Given the description of an element on the screen output the (x, y) to click on. 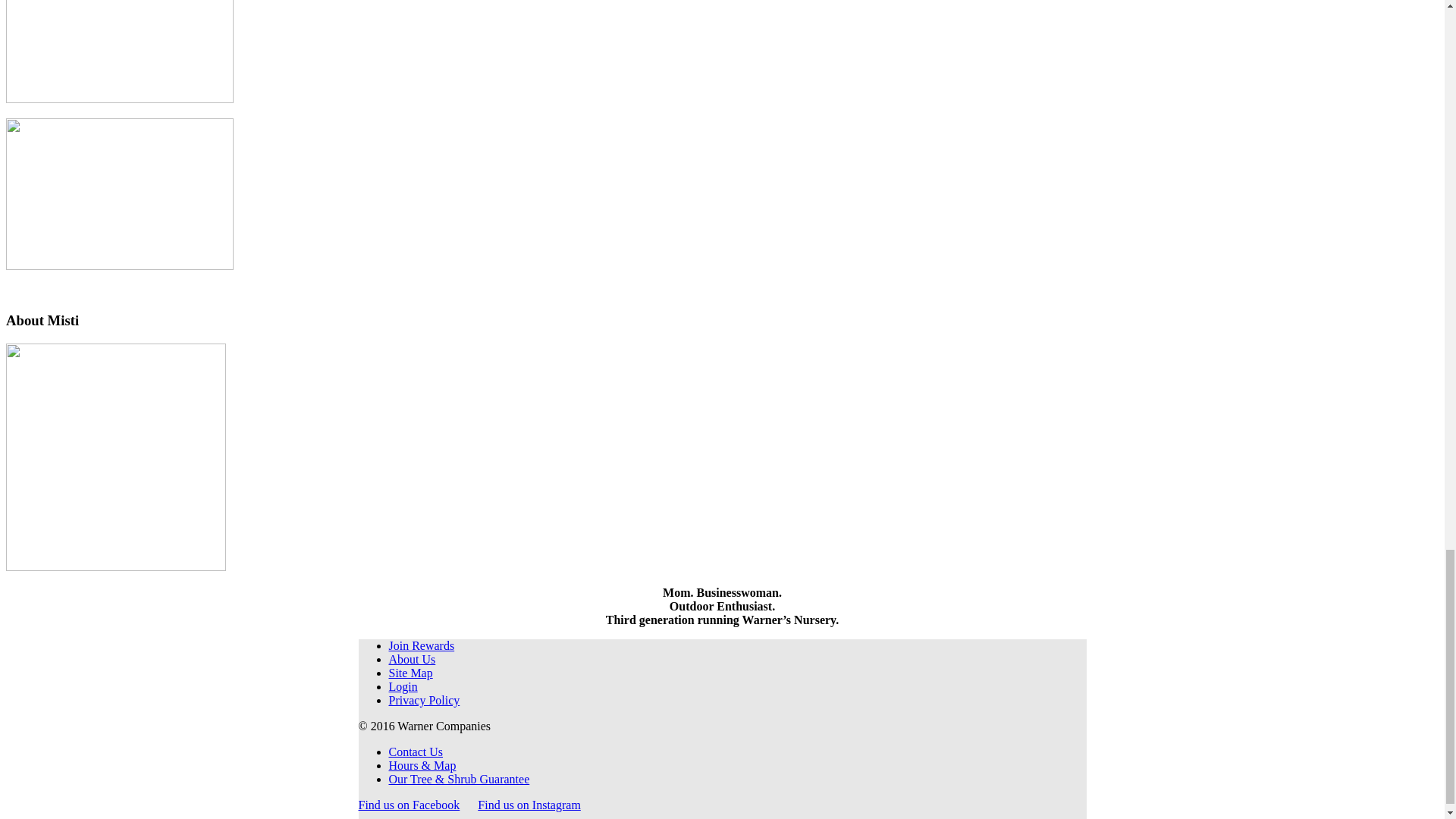
Site Map (410, 672)
Contact Us (415, 751)
Join Rewards (421, 645)
Login to the admin (402, 686)
Privacy Policy (424, 699)
Login (402, 686)
Find us on Facebook (409, 804)
About Us (411, 658)
